Given the description of an element on the screen output the (x, y) to click on. 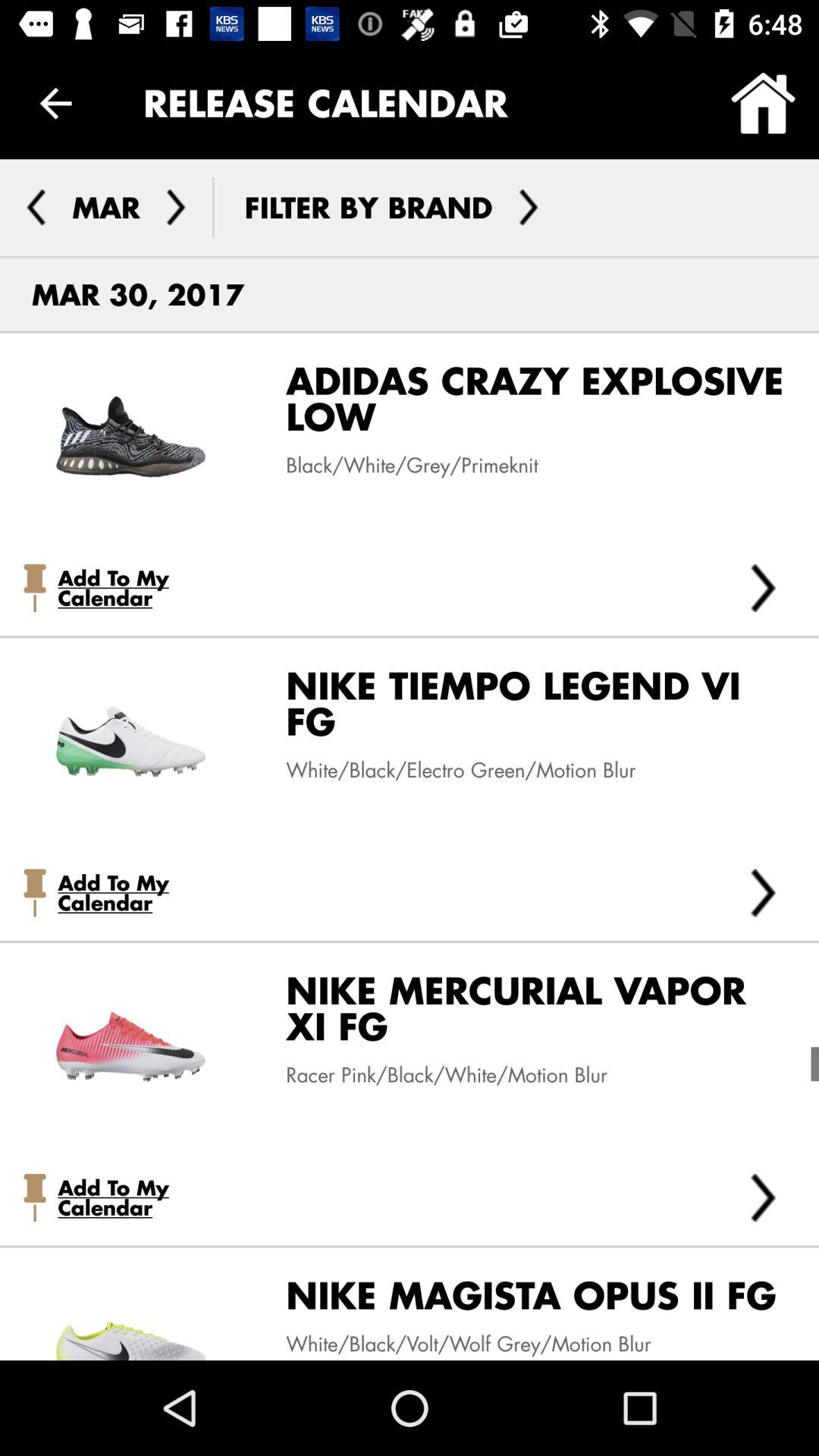
go back (36, 207)
